Given the description of an element on the screen output the (x, y) to click on. 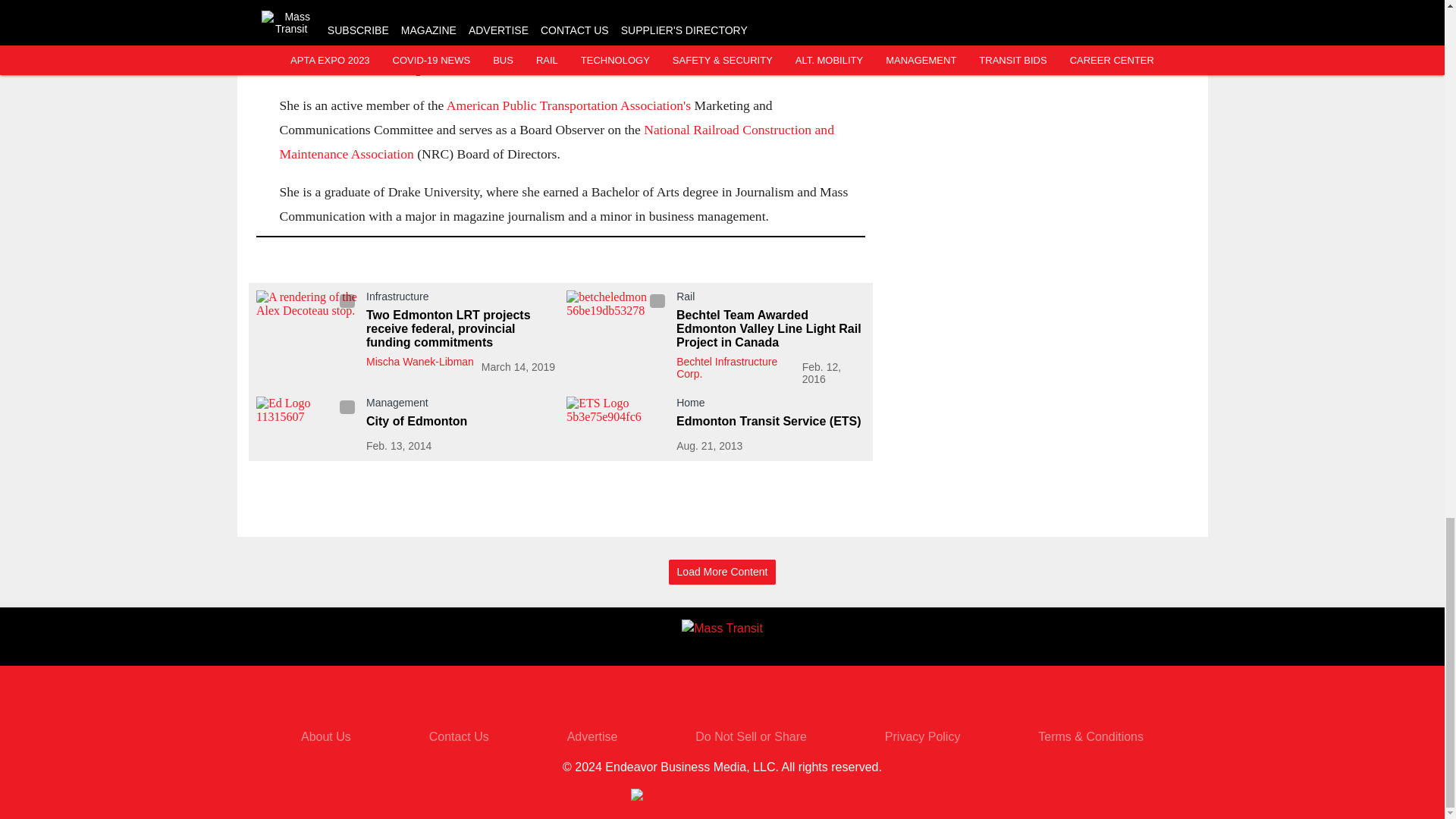
Ed Logo 11315607 (307, 424)
National Railroad Construction and Maintenance Association (555, 141)
Bechtel Infrastructure Corp. (727, 367)
betcheledmon 56be19db53278 (617, 318)
Mischa Wanek-Libman (419, 361)
Infrastructure (459, 299)
American Public Transportation Association's (568, 105)
A rendering of the Alex Decoteau stop. (307, 318)
